Given the description of an element on the screen output the (x, y) to click on. 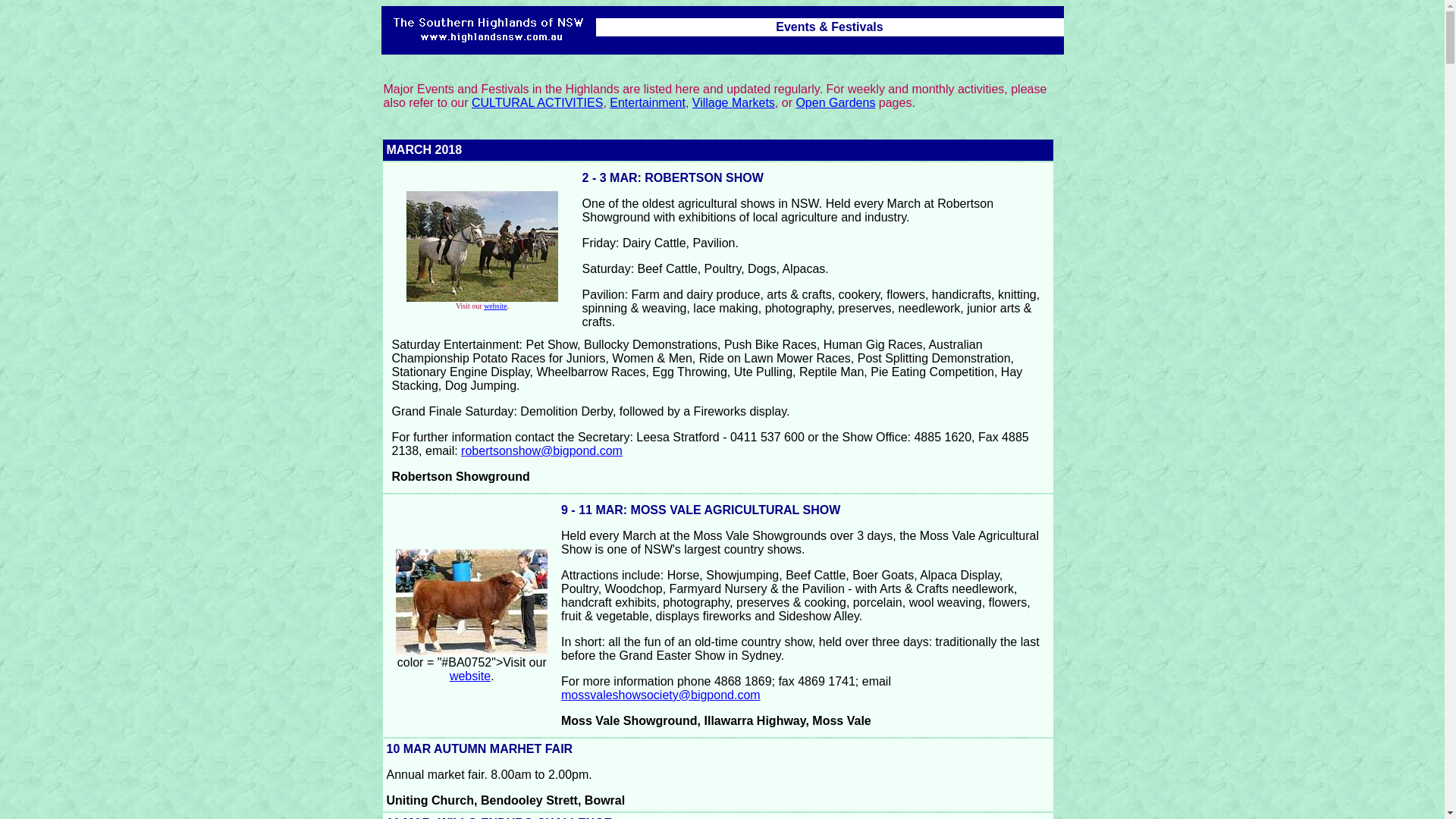
mossvaleshowsociety@bigpond.com Element type: text (660, 694)
Village Markets Element type: text (733, 102)
Entertainment Element type: text (647, 102)
robertsonshow@bigpond.com Element type: text (541, 450)
Open Gardens Element type: text (835, 102)
website Element type: text (495, 305)
website Element type: text (469, 674)
CULTURAL ACTIVITIES Element type: text (536, 102)
